Given the description of an element on the screen output the (x, y) to click on. 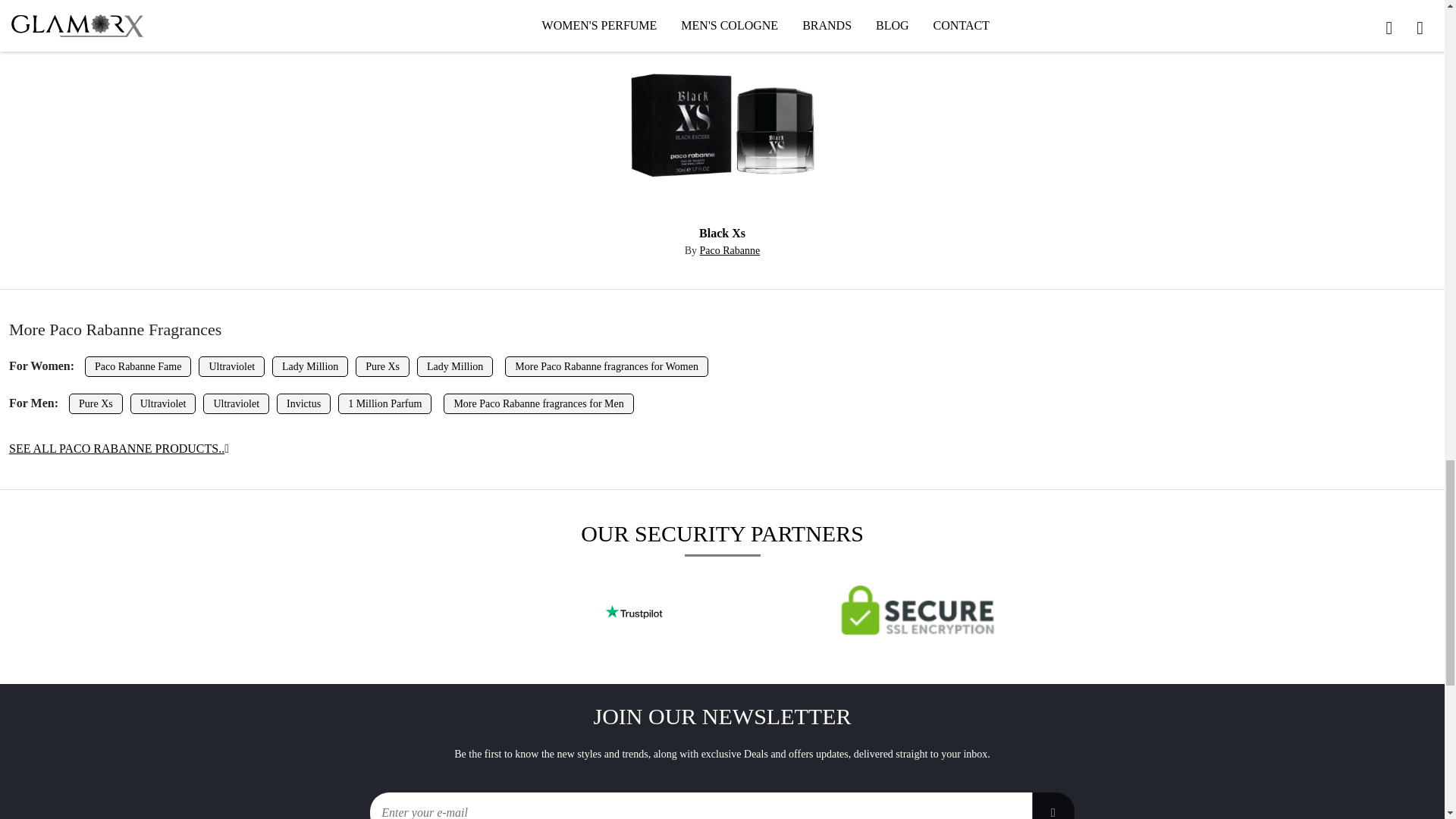
Customer reviews powered by Trustpilot (633, 612)
